Given the description of an element on the screen output the (x, y) to click on. 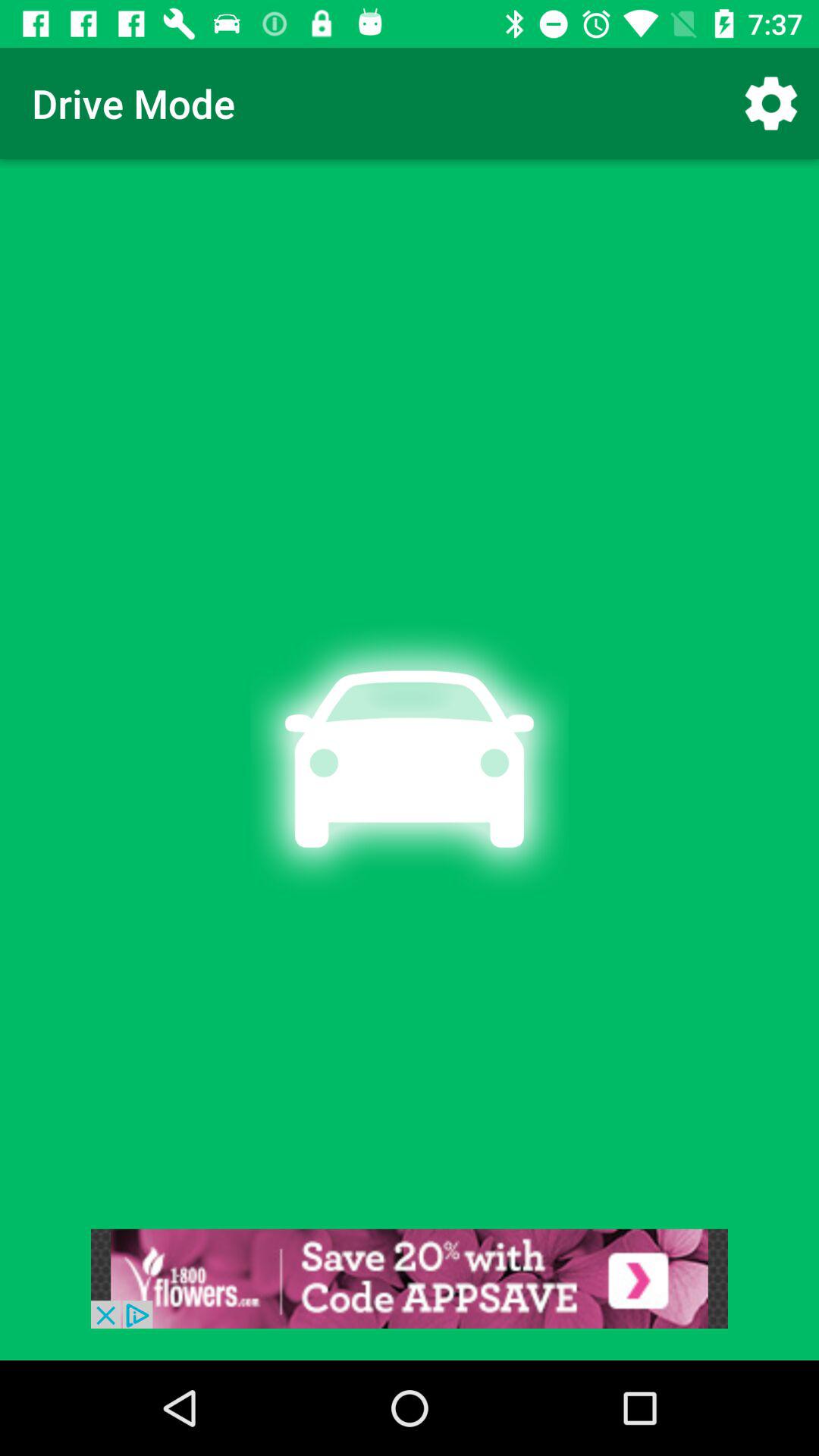
advertisement (409, 1278)
